Given the description of an element on the screen output the (x, y) to click on. 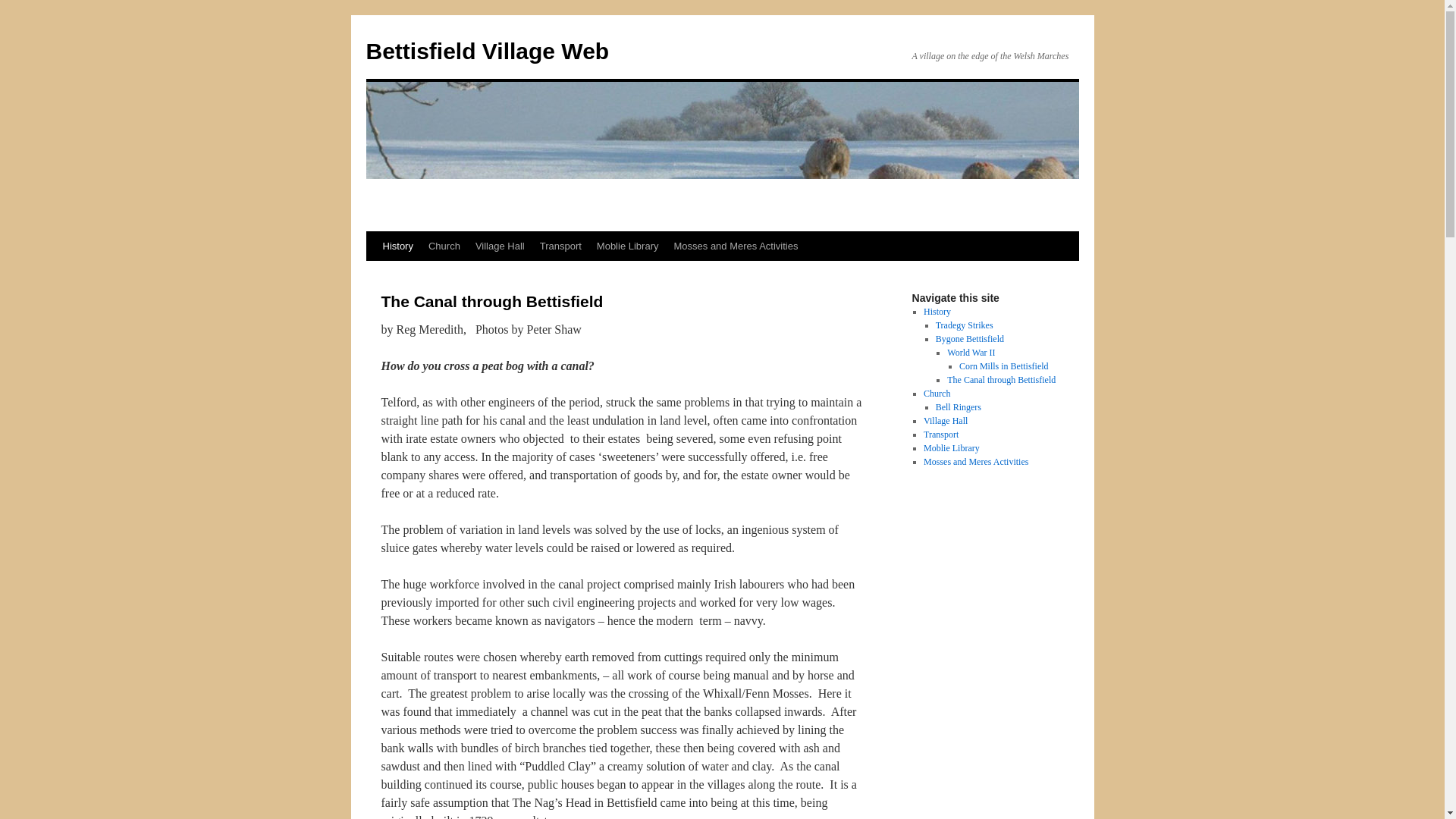
Transport (560, 246)
Moblie Library (951, 448)
Moblie Library (627, 246)
Corn Mills in Bettisfield (1003, 366)
History (936, 311)
Tradegy Strikes (964, 325)
Transport (940, 434)
Mosses and Meres Activities (735, 246)
Mosses and Meres Activities (975, 461)
World War II (970, 352)
The Canal through Bettisfield (1001, 379)
Church (936, 393)
Bettisfield Village Web (486, 50)
Village Hall (945, 420)
Bygone Bettisfield (970, 338)
